Given the description of an element on the screen output the (x, y) to click on. 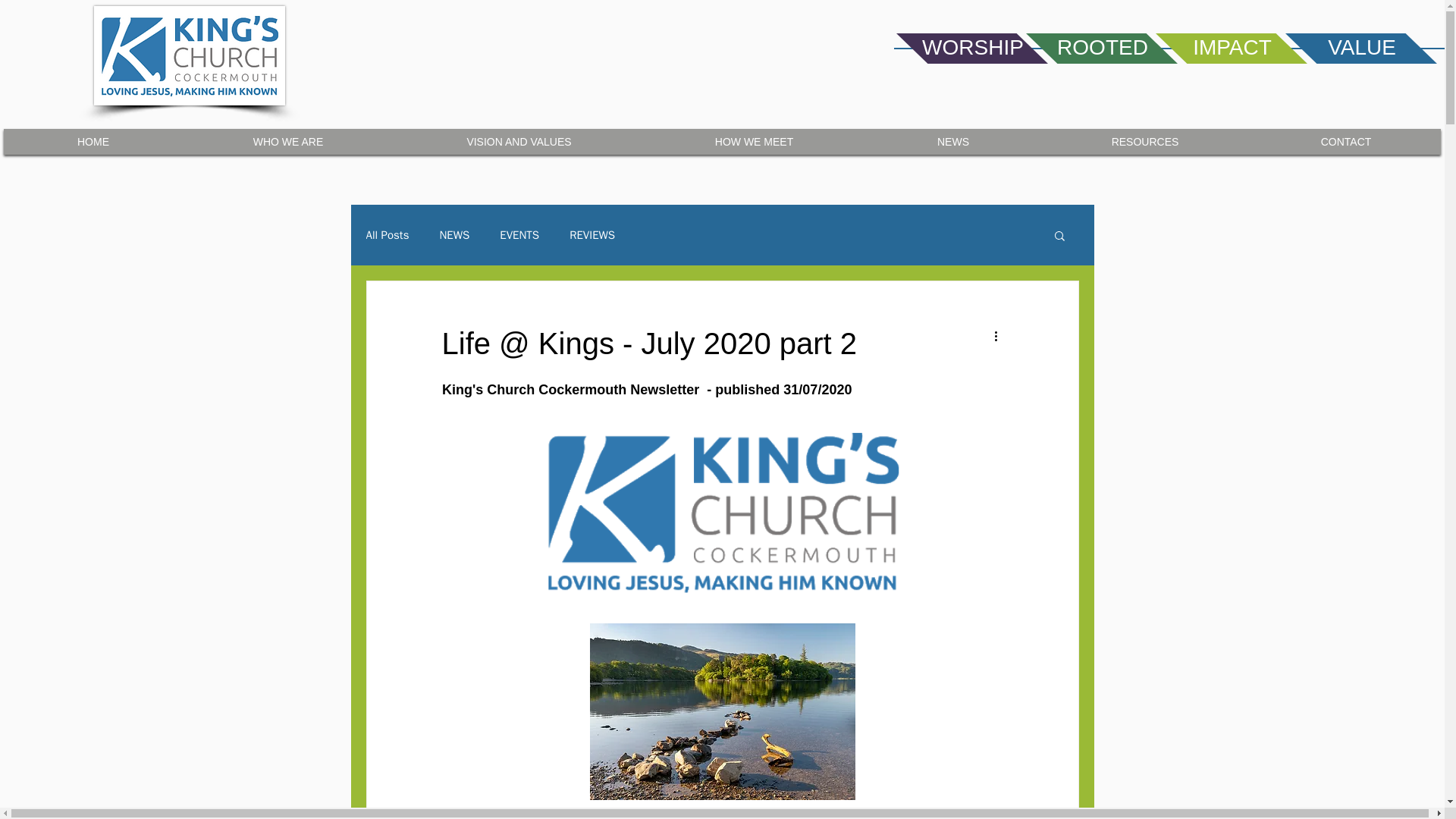
All Posts (387, 234)
HOME (93, 141)
HOW WE MEET (754, 141)
CONTACT (1345, 141)
NEWS (953, 141)
REVIEWS (591, 234)
NEWS (453, 234)
EVENTS (518, 234)
